Given the description of an element on the screen output the (x, y) to click on. 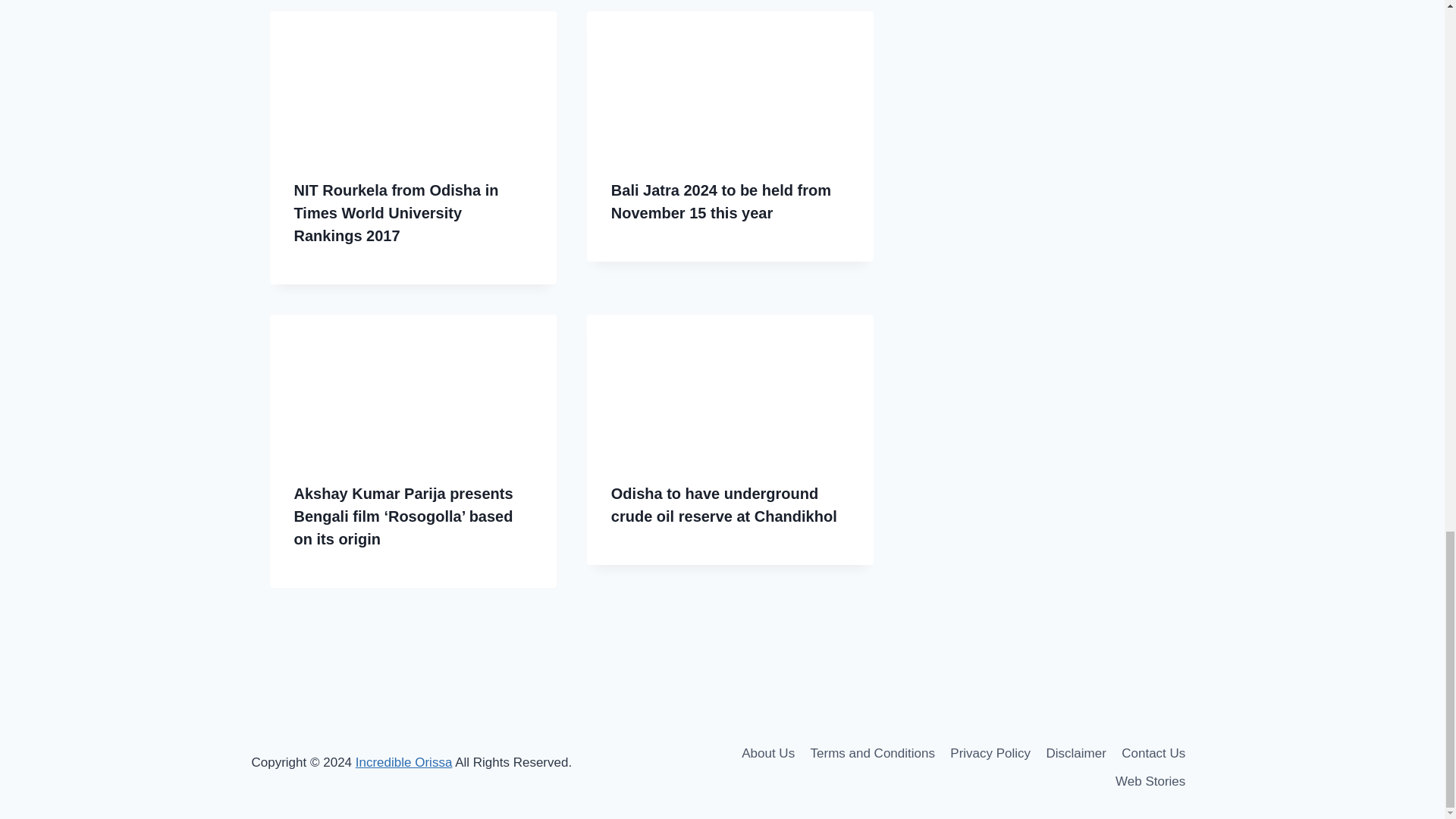
Odisha to have underground crude oil reserve at Chandikhol (724, 504)
Bali Jatra 2024 to be held from November 15 this year (721, 201)
